Given the description of an element on the screen output the (x, y) to click on. 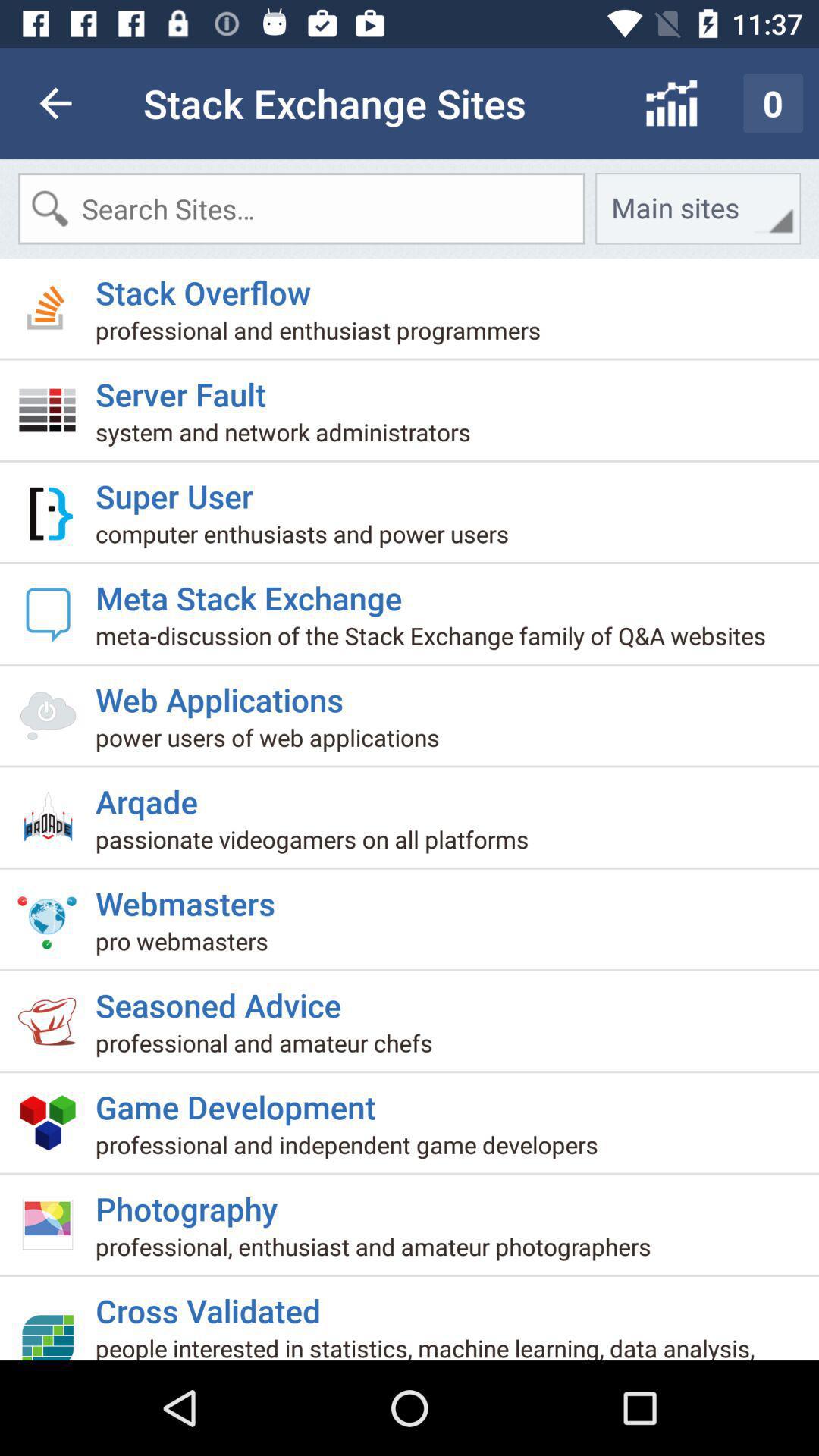
click server fault (186, 387)
